Given the description of an element on the screen output the (x, y) to click on. 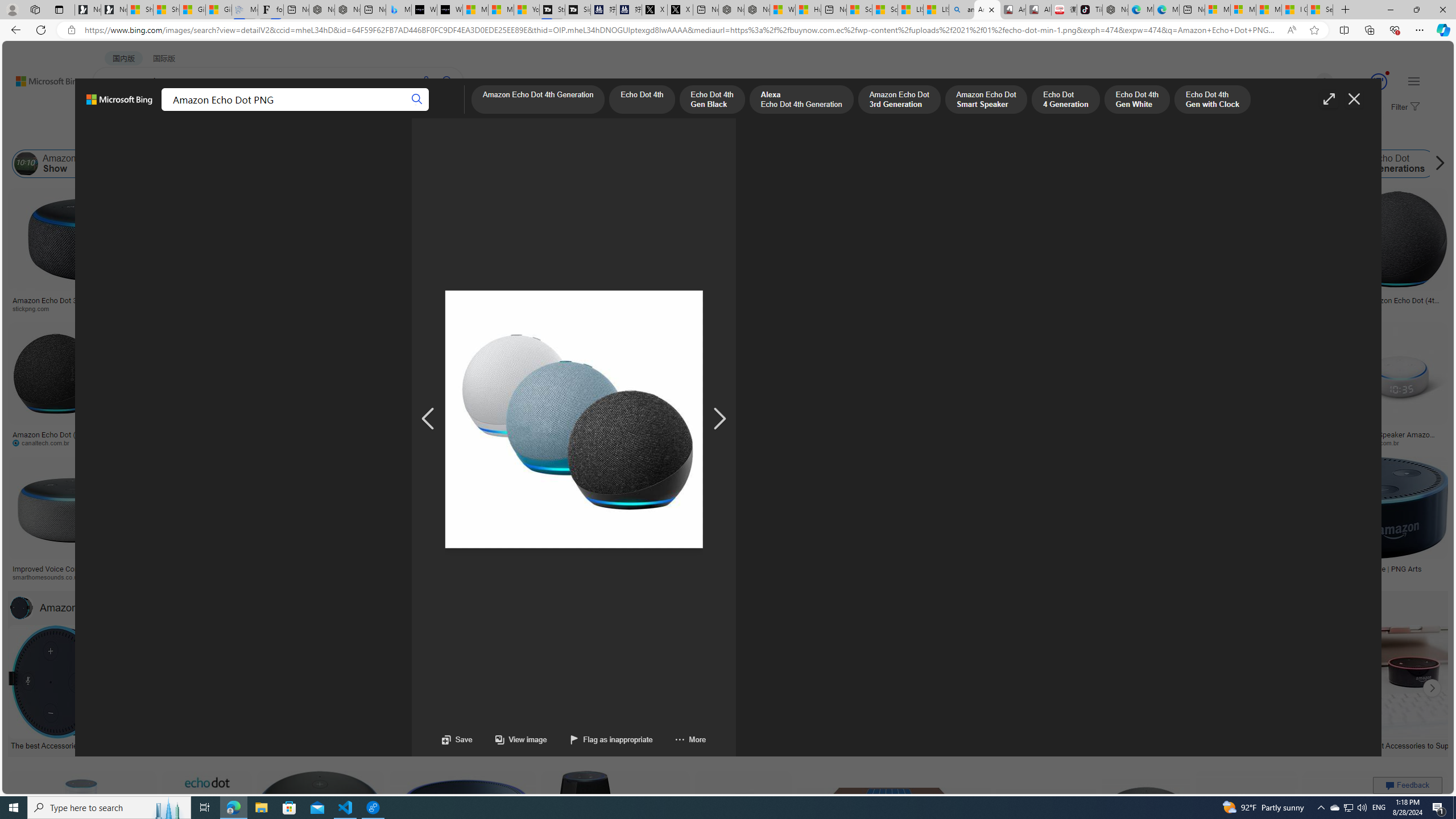
amazon.com.mx (1003, 442)
Search using voice (426, 80)
Amazon Echo - Always ready, connected and fast. Just ask. (1070, 572)
mediamarkt.es (638, 576)
Flag as inappropriate (610, 739)
WEB (114, 111)
People (295, 135)
